Given the description of an element on the screen output the (x, y) to click on. 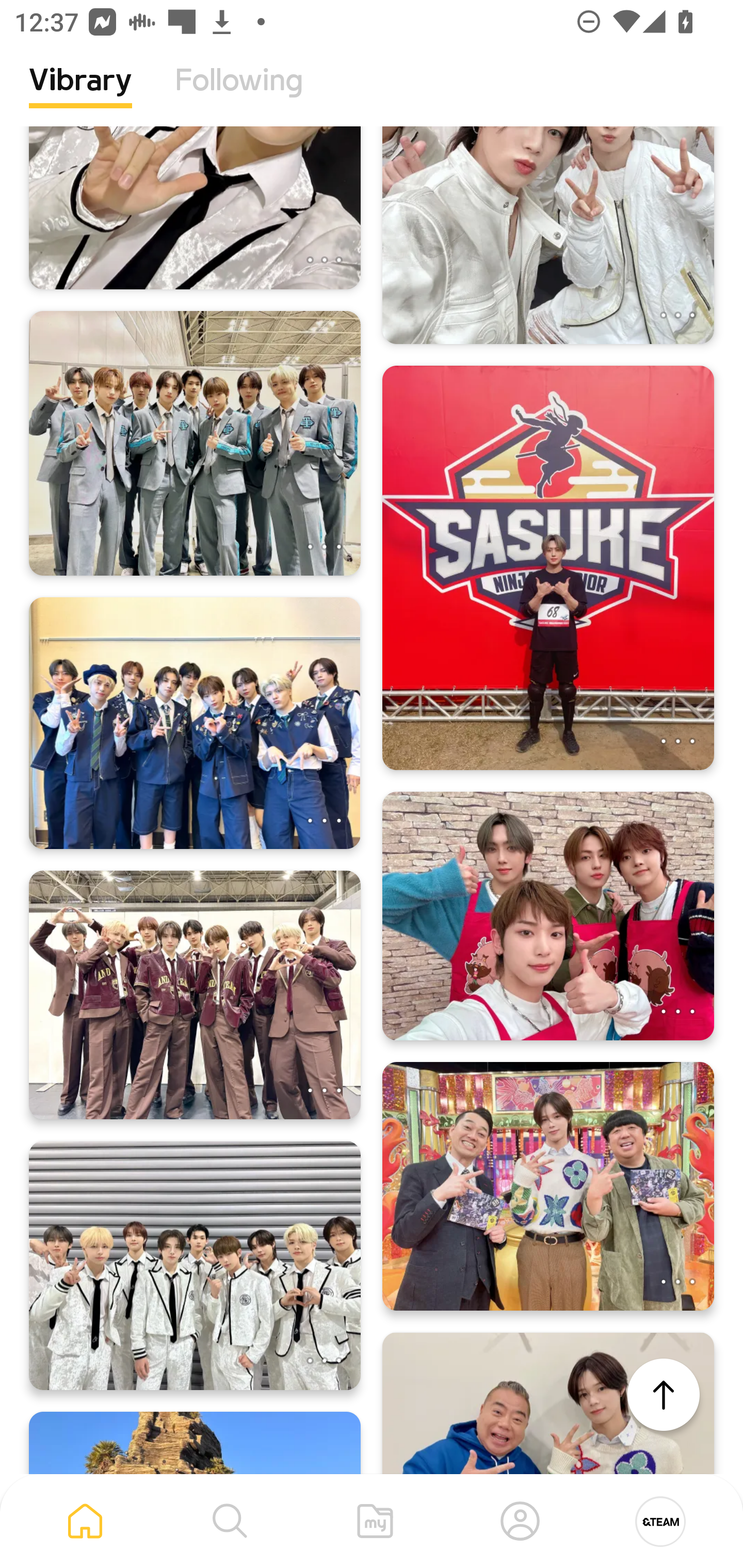
Vibrary (80, 95)
Following (239, 95)
